Given the description of an element on the screen output the (x, y) to click on. 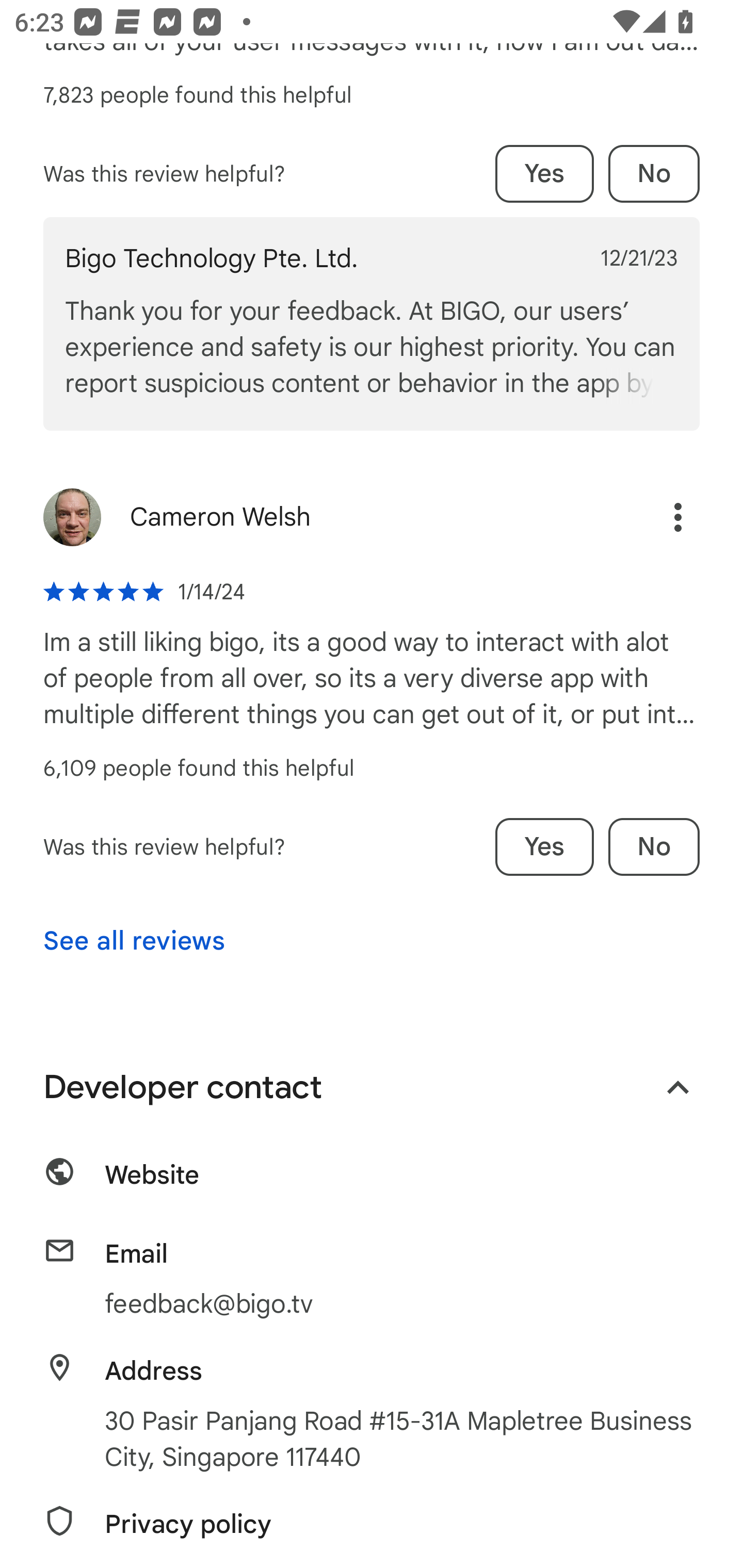
Yes (544, 173)
No (653, 173)
Options (677, 517)
Yes (544, 847)
No (653, 847)
See all reviews (134, 940)
Developer contact
 Collapse (371, 1087)
Collapse (677, 1088)
Website (371, 1180)
Email Email feedback@bigo.tv (371, 1278)
Privacy policy (371, 1528)
